Given the description of an element on the screen output the (x, y) to click on. 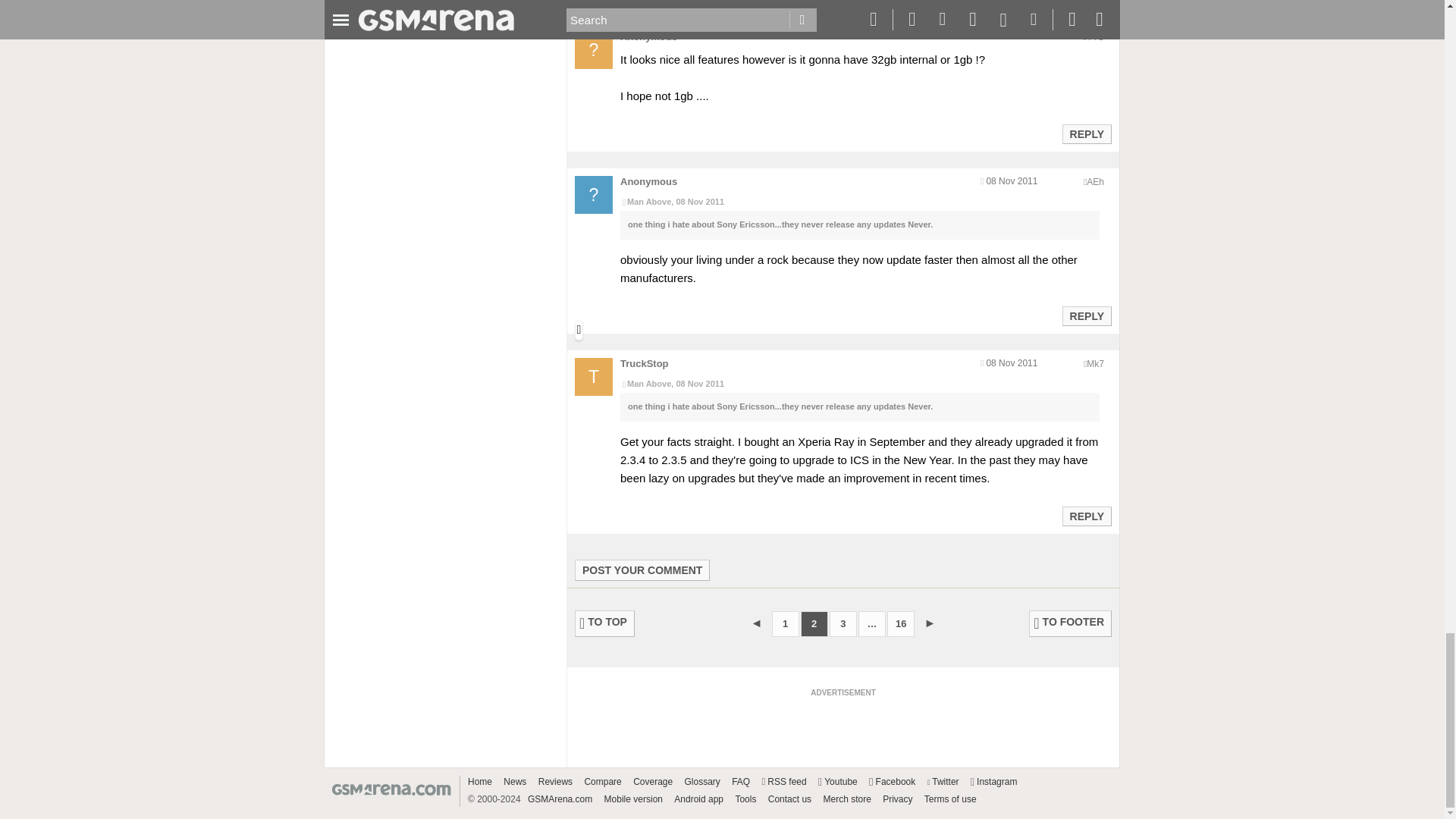
TO TOP (604, 623)
